Given the description of an element on the screen output the (x, y) to click on. 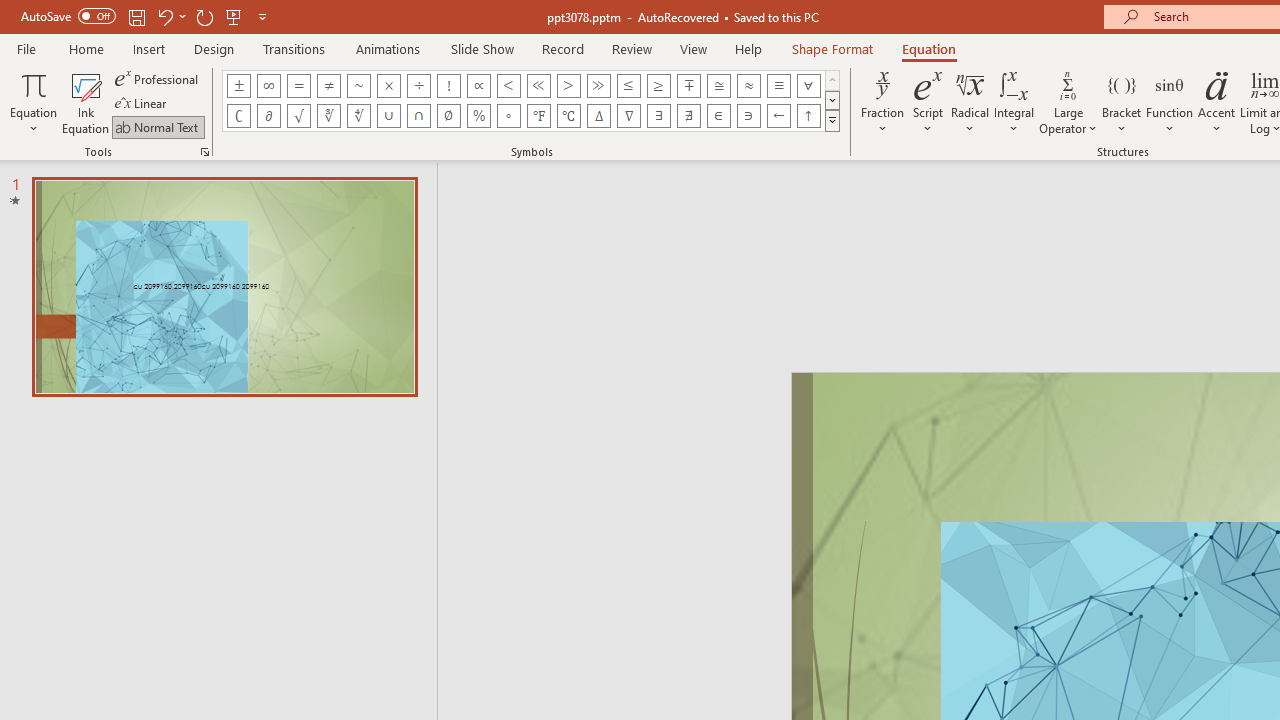
Equation Symbol Element Of (718, 115)
Equation Symbol Much Less Than (538, 85)
Accent (1216, 102)
AutomationID: EquationSymbolsInsertGallery (532, 100)
Equation Symbol Greater Than or Equal To (658, 85)
Integral (1014, 102)
Normal Text (158, 126)
Equation Symbol Degrees Celsius (568, 115)
Equation Symbol Equal (298, 85)
